Given the description of an element on the screen output the (x, y) to click on. 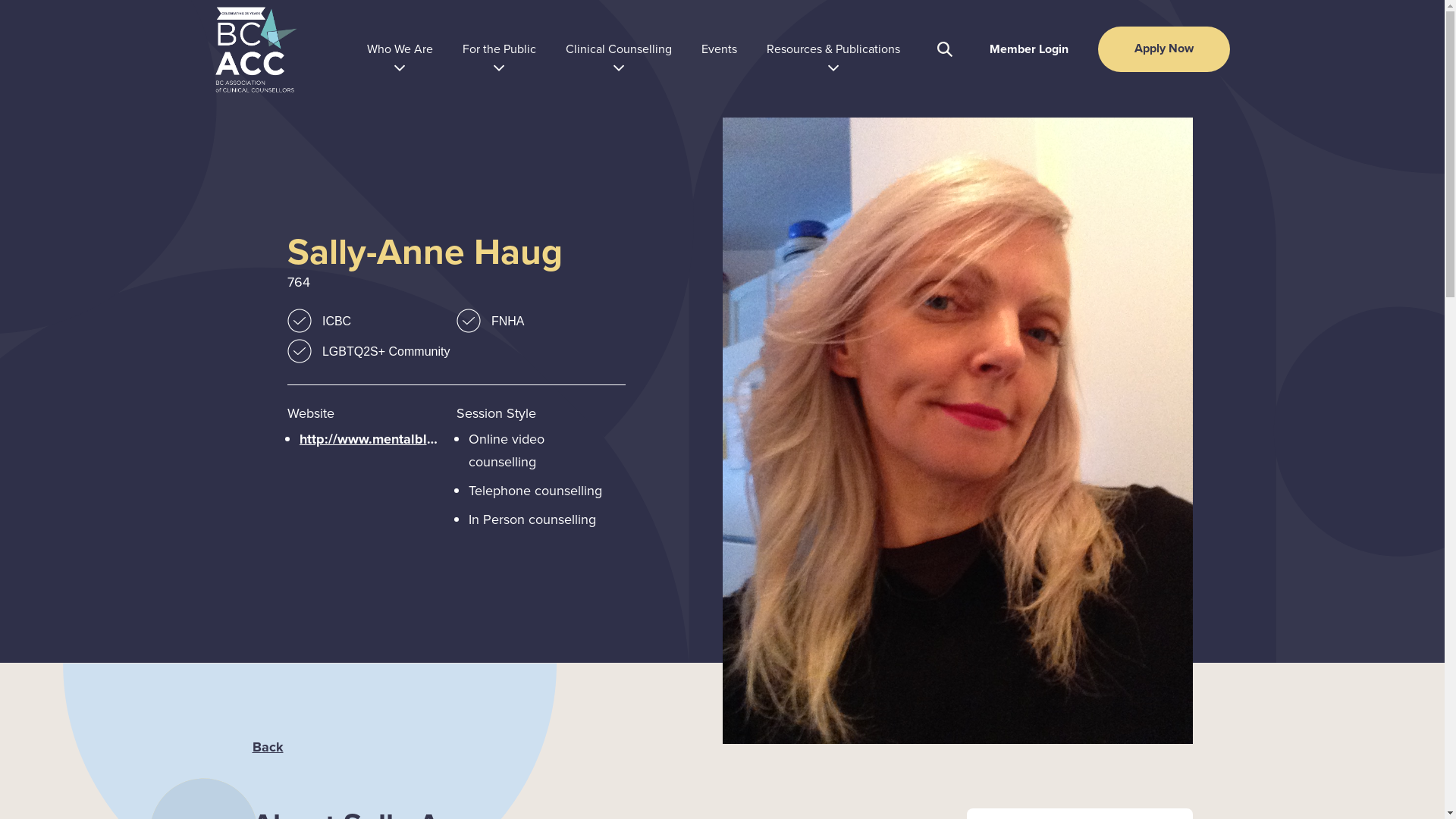
Member Login Element type: text (1028, 49)
Resources & Publications Element type: text (833, 49)
This filter is applied Element type: hover (298, 350)
Apply Now Element type: text (1164, 49)
Back Element type: text (266, 746)
http://www.mentalblocks.net Element type: text (370, 438)
For the Public Element type: text (499, 49)
This filter is applied Element type: hover (468, 320)
Clinical Counselling Element type: text (618, 49)
This filter is applied Element type: hover (298, 320)
Events Element type: text (719, 49)
Who We Are Element type: text (400, 49)
